Given the description of an element on the screen output the (x, y) to click on. 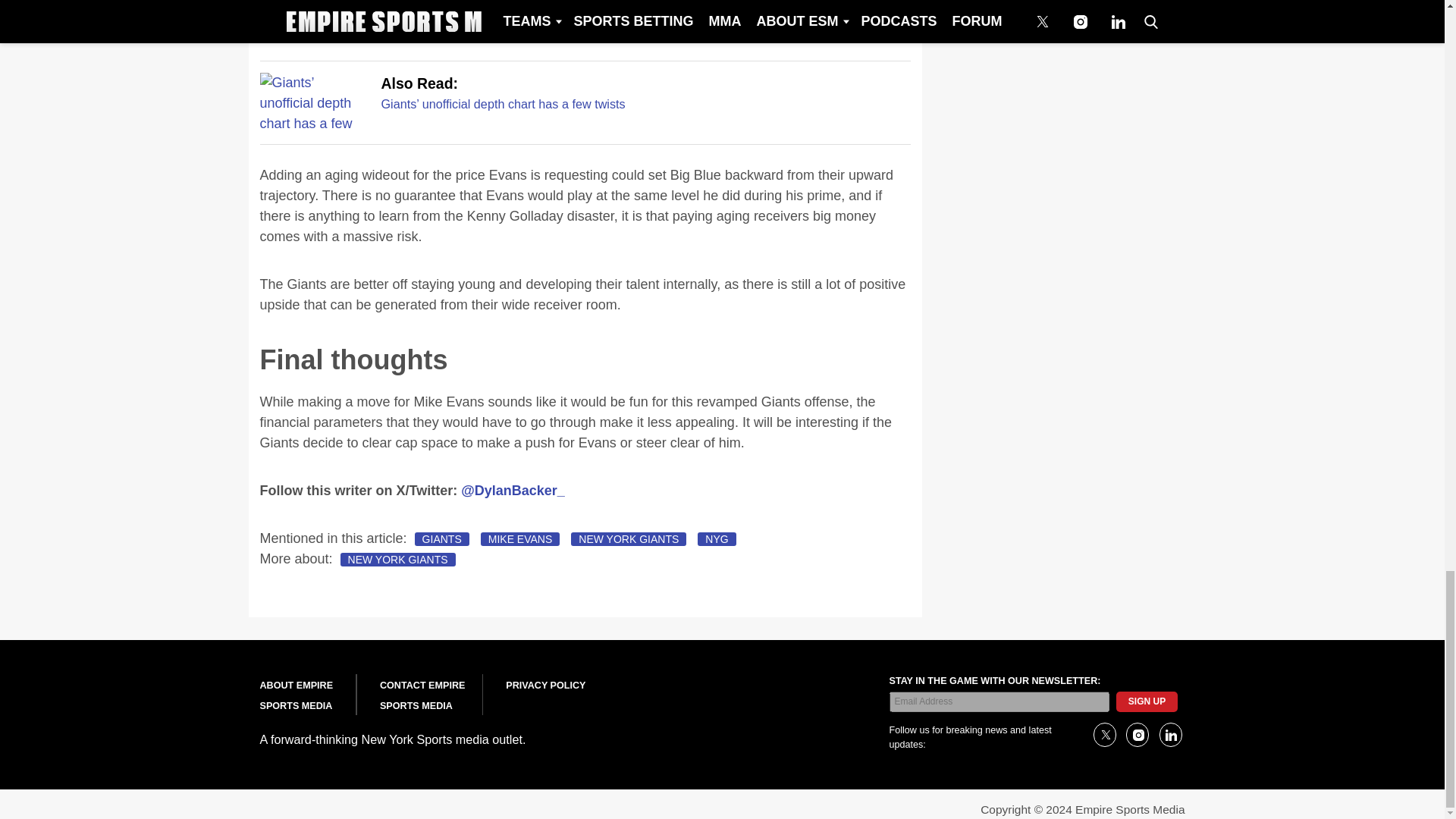
Connect with us on LinkedIn (1169, 734)
Follow us on Instagram (1136, 734)
Follow us on Twitter (1104, 734)
